Given the description of an element on the screen output the (x, y) to click on. 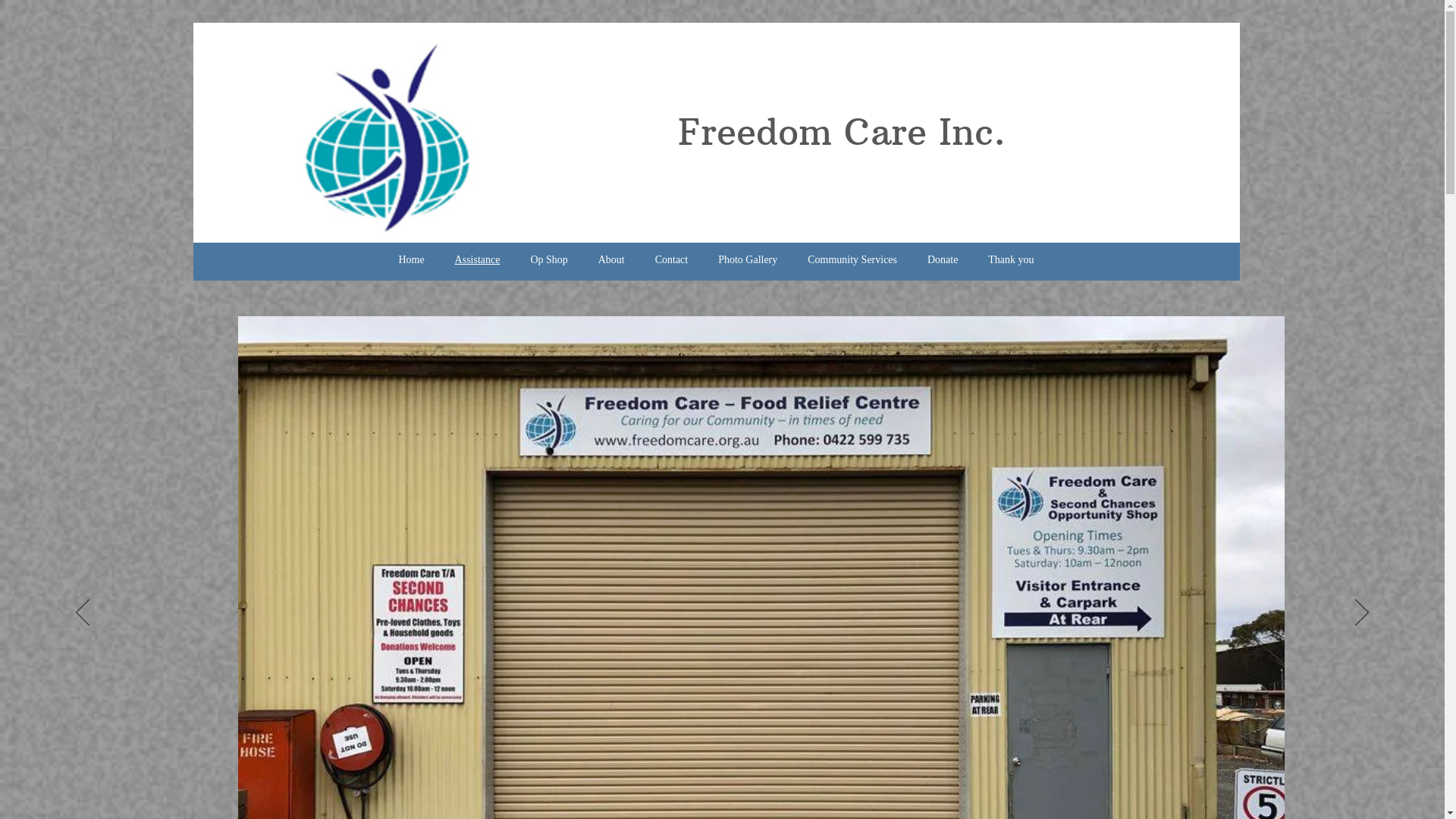
Op Shop Element type: text (548, 259)
Donate Element type: text (942, 259)
Home Element type: text (411, 259)
About Element type: text (611, 259)
Contact Element type: text (671, 259)
Thank you Element type: text (1010, 259)
Assistance Element type: text (477, 259)
Photo Gallery Element type: text (747, 259)
Community Services Element type: text (852, 259)
